Given the description of an element on the screen output the (x, y) to click on. 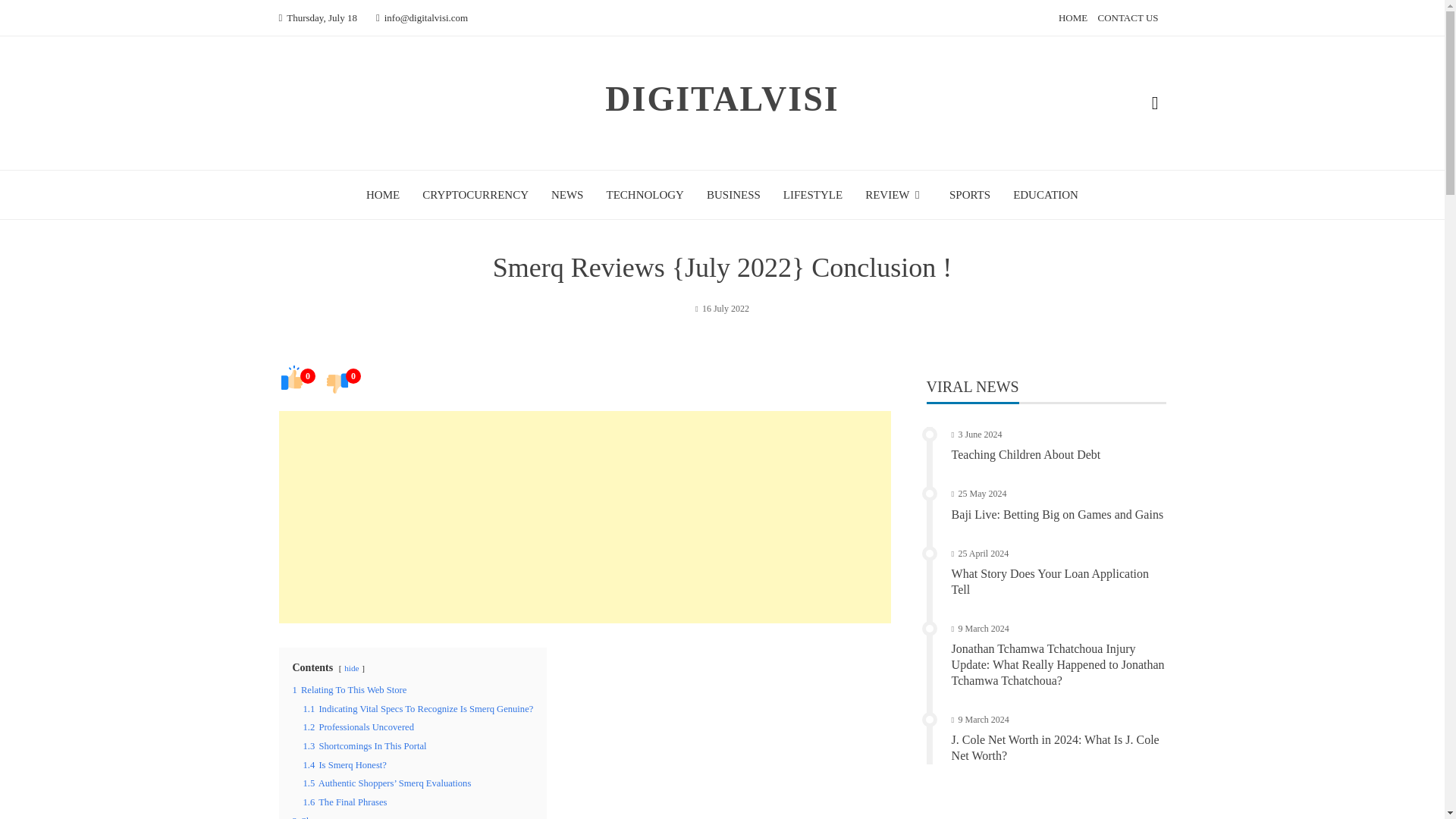
1 Relating To This Web Store (349, 689)
CRYPTOCURRENCY (475, 194)
1.4 Is Smerq Honest? (344, 765)
LIFESTYLE (813, 194)
1.3 Shortcomings In This Portal (364, 746)
NEWS (567, 194)
TECHNOLOGY (644, 194)
Advertisement (585, 517)
1.1 Indicating Vital Specs To Recognize Is Smerq Genuine? (418, 708)
REVIEW (895, 194)
1.6 The Final Phrases (344, 801)
SPORTS (969, 194)
EDUCATION (1045, 194)
hide (350, 667)
1.2 Professionals Uncovered (357, 726)
